Given the description of an element on the screen output the (x, y) to click on. 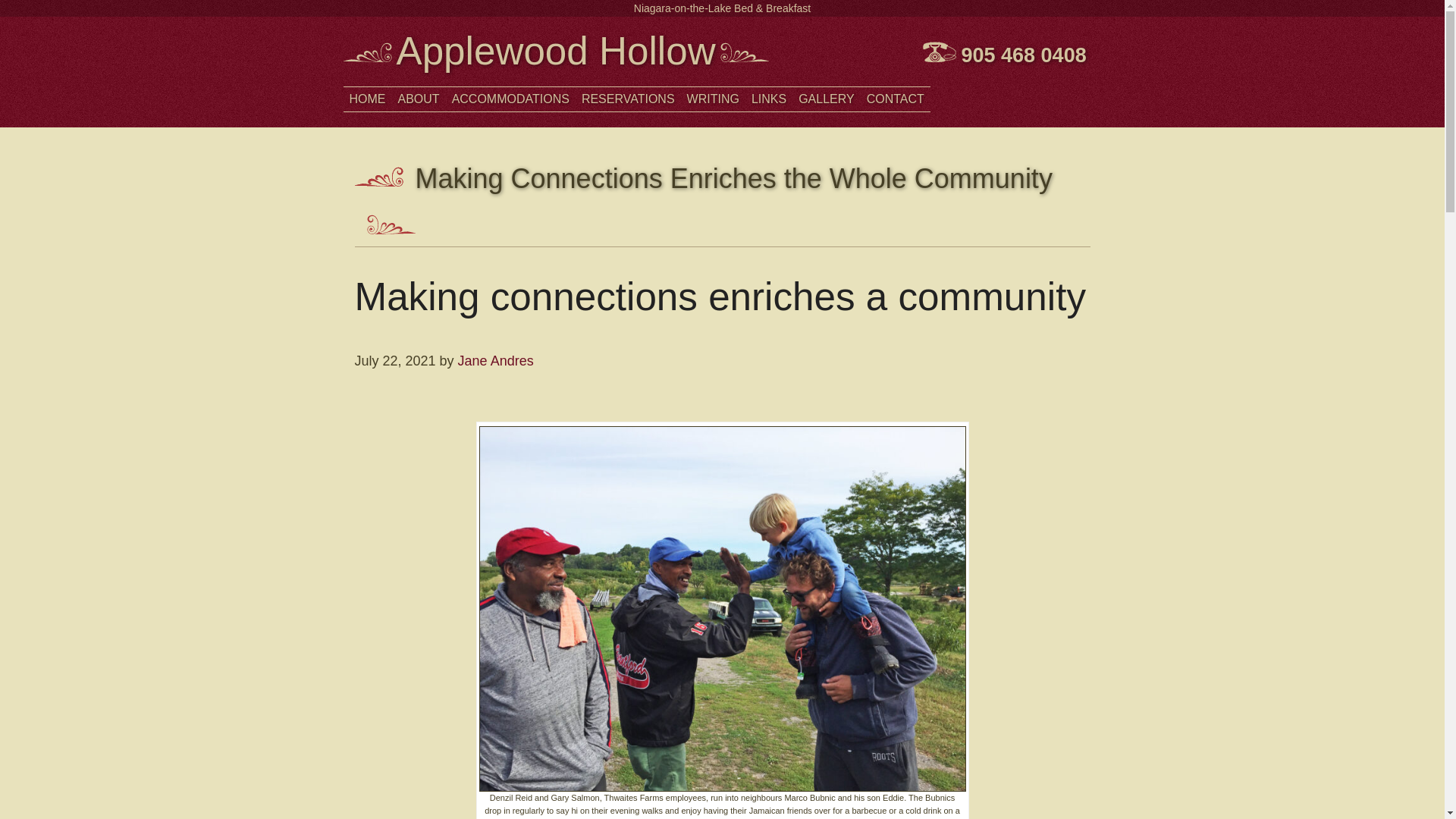
CONTACT (895, 99)
ACCOMMODATIONS (510, 99)
GALLERY (826, 99)
WRITING (713, 99)
Applewood Hollow (555, 50)
Applewood Hollow (555, 50)
905 468 0408 (1023, 55)
RESERVATIONS (628, 99)
Jane Andres (496, 360)
HOME (366, 99)
ABOUT (418, 99)
LINKS (768, 99)
